Given the description of an element on the screen output the (x, y) to click on. 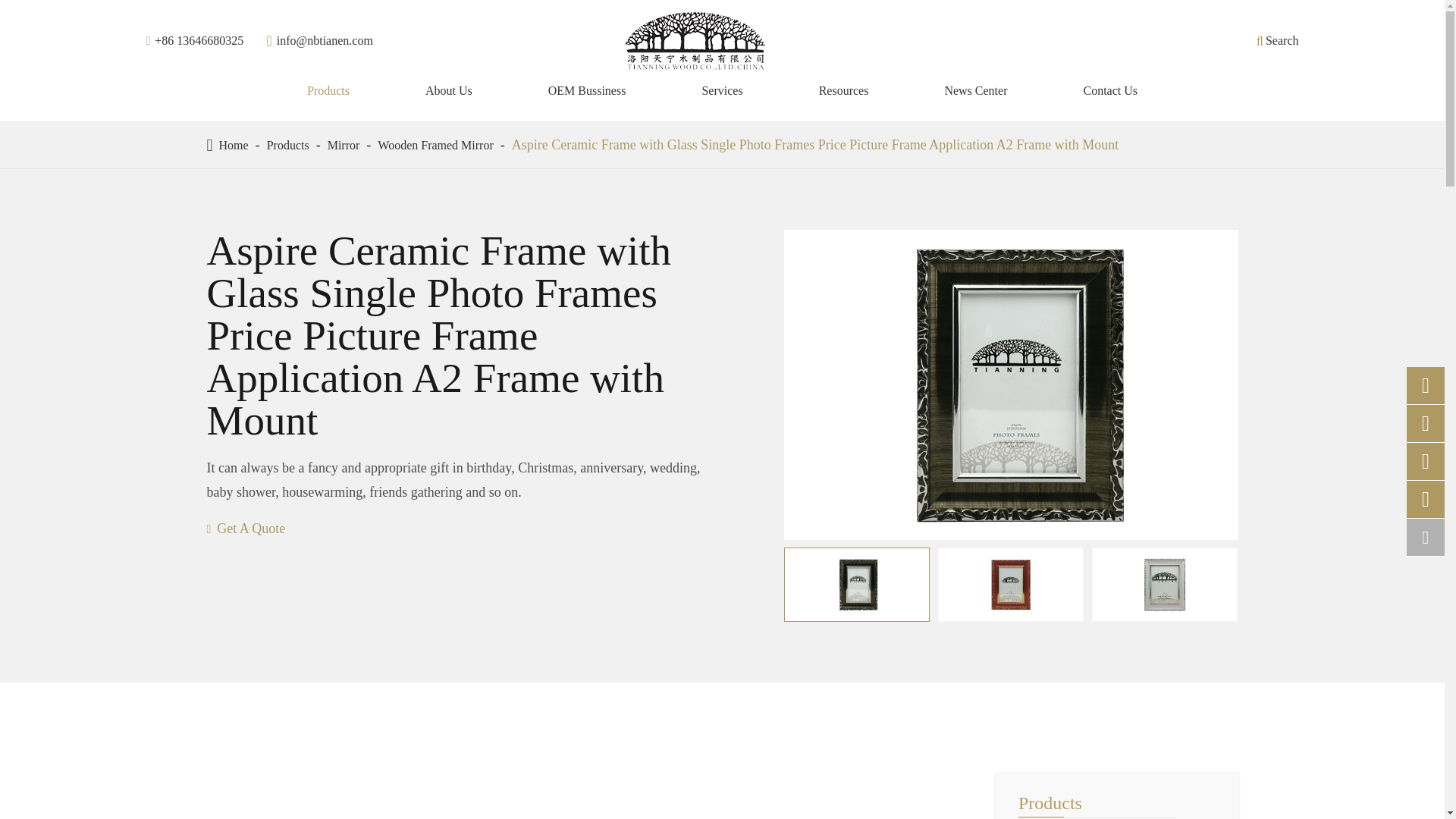
Mirror (343, 144)
Wooden Framed Mirror (435, 144)
Products (328, 90)
aspire ceramic frame with glass (1010, 584)
About Us (448, 90)
Luoyang Tianning Wood Co., Ltd. (694, 41)
Products (287, 144)
a2 frame with mount (856, 584)
